Given the description of an element on the screen output the (x, y) to click on. 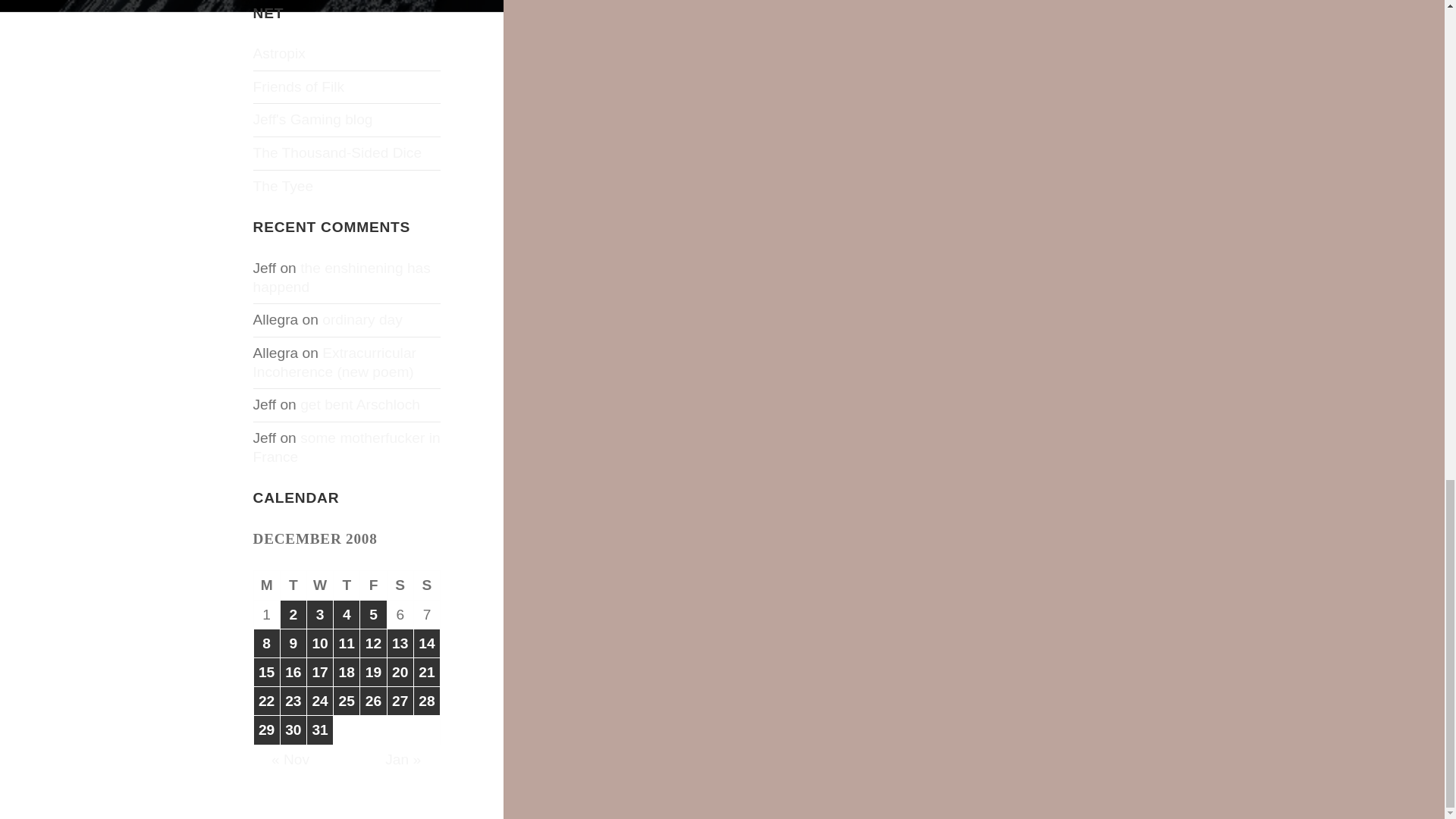
Monday (267, 584)
13 (400, 643)
Wednesday (320, 584)
17 (320, 672)
9 (293, 643)
11 (346, 643)
some motherfucker in France (347, 447)
Thursday (346, 584)
Sunday (427, 584)
5 (372, 614)
